Given the description of an element on the screen output the (x, y) to click on. 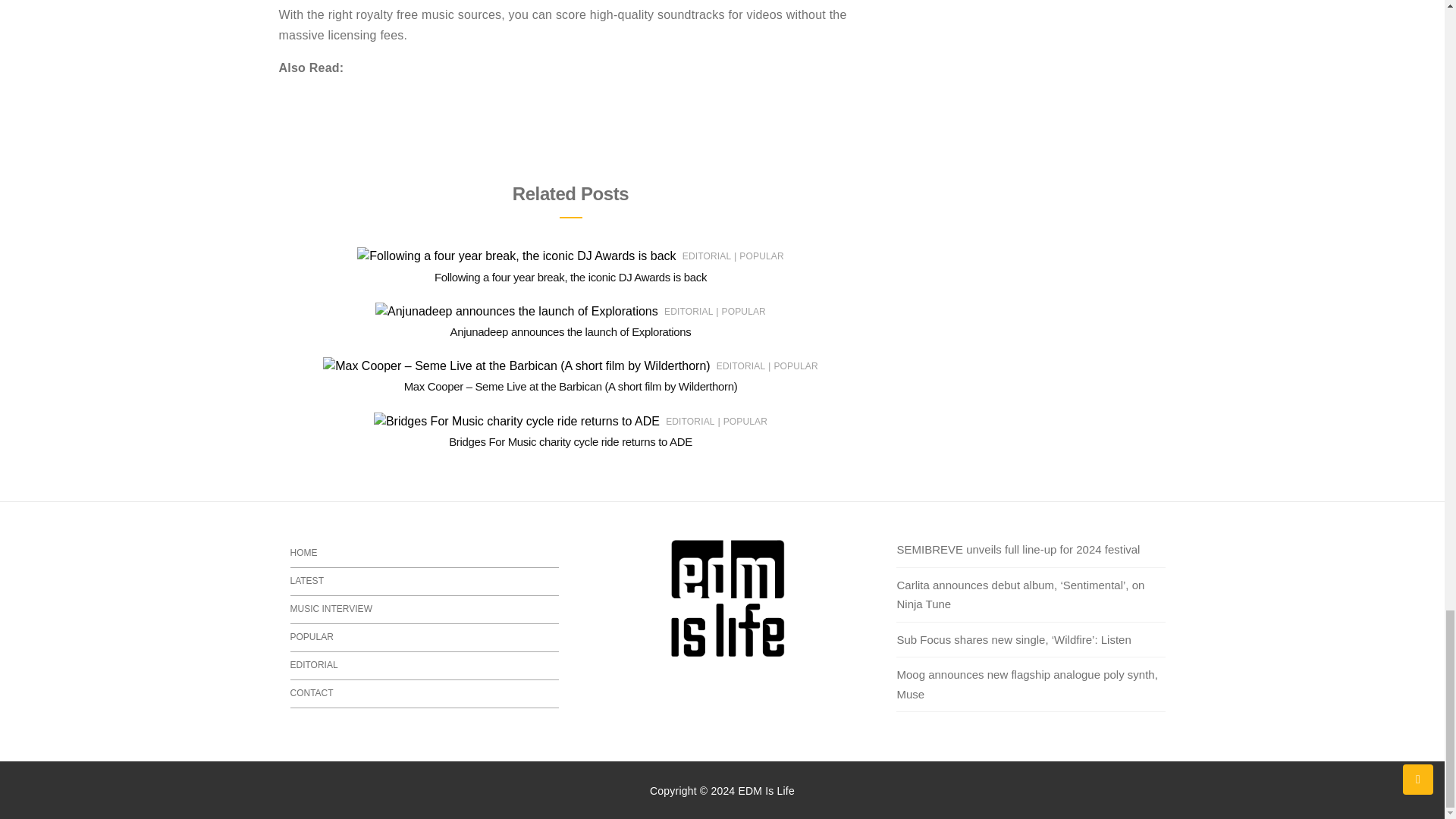
EDITORIAL (706, 255)
POPULAR (743, 311)
Bridges For Music charity cycle ride returns to ADE (570, 440)
POPULAR (761, 255)
Following a four year break, the iconic DJ Awards is back (569, 277)
Anjunadeep announces the launch of Explorations (570, 331)
Anjunadeep announces the launch of Explorations (570, 331)
EDITORIAL (688, 311)
Following a four year break, the iconic DJ Awards is back (569, 277)
